Given the description of an element on the screen output the (x, y) to click on. 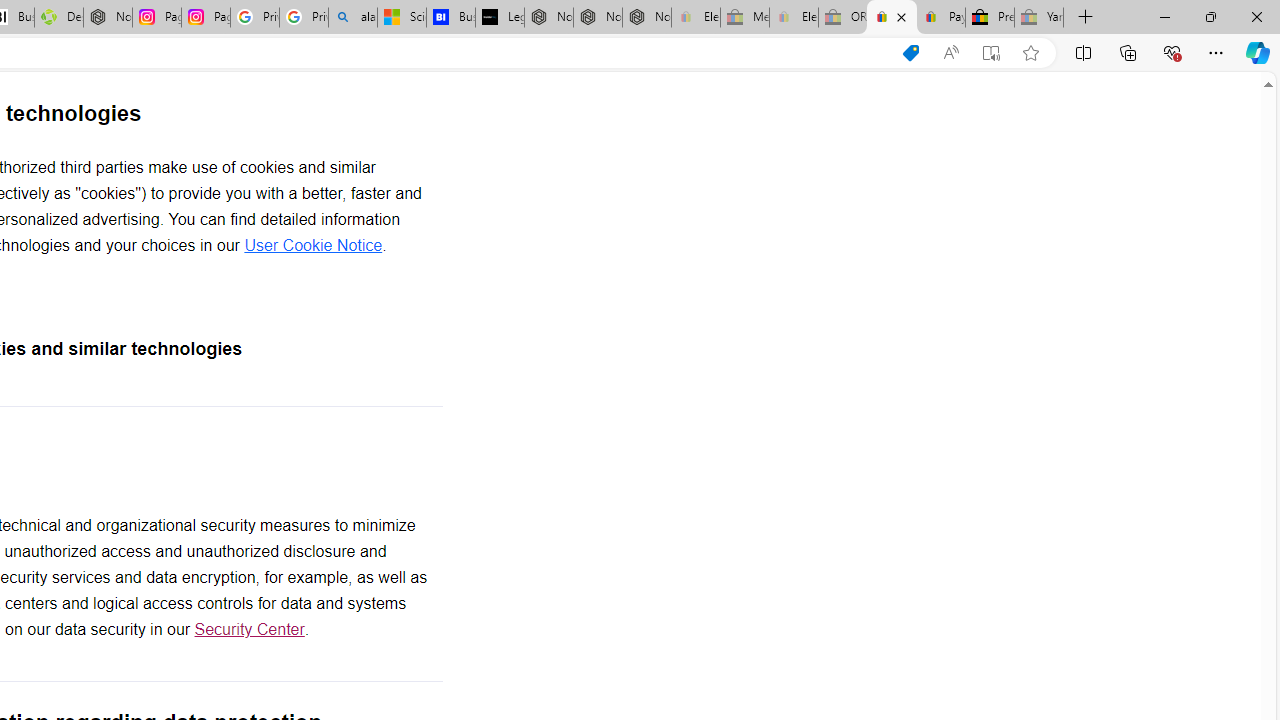
Press Room - eBay Inc. (989, 17)
